Given the description of an element on the screen output the (x, y) to click on. 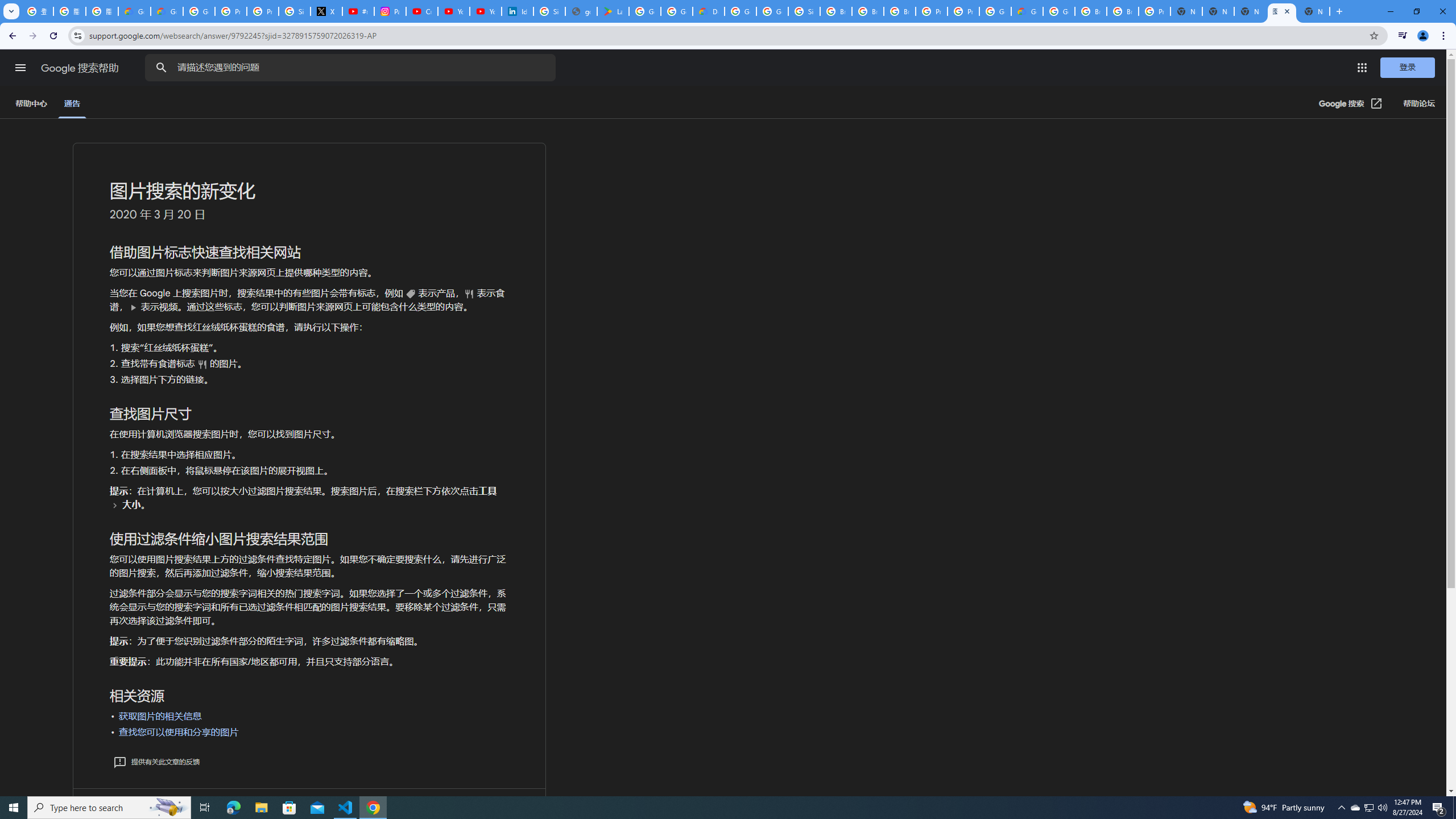
Google Cloud Platform (1059, 11)
Browse Chrome as a guest - Computer - Google Chrome Help (868, 11)
